Given the description of an element on the screen output the (x, y) to click on. 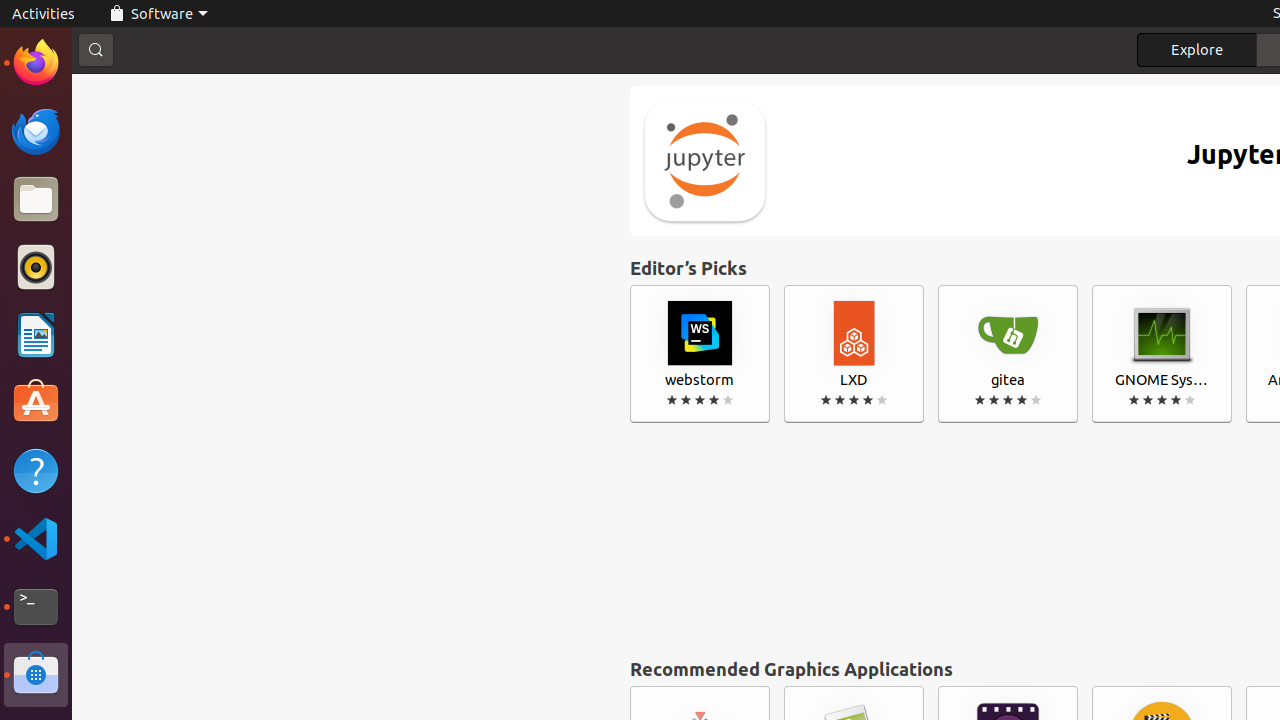
LXD Element type: push-button (854, 354)
Trash Element type: label (133, 191)
Terminal Element type: push-button (36, 607)
gitea Element type: push-button (1008, 354)
